Given the description of an element on the screen output the (x, y) to click on. 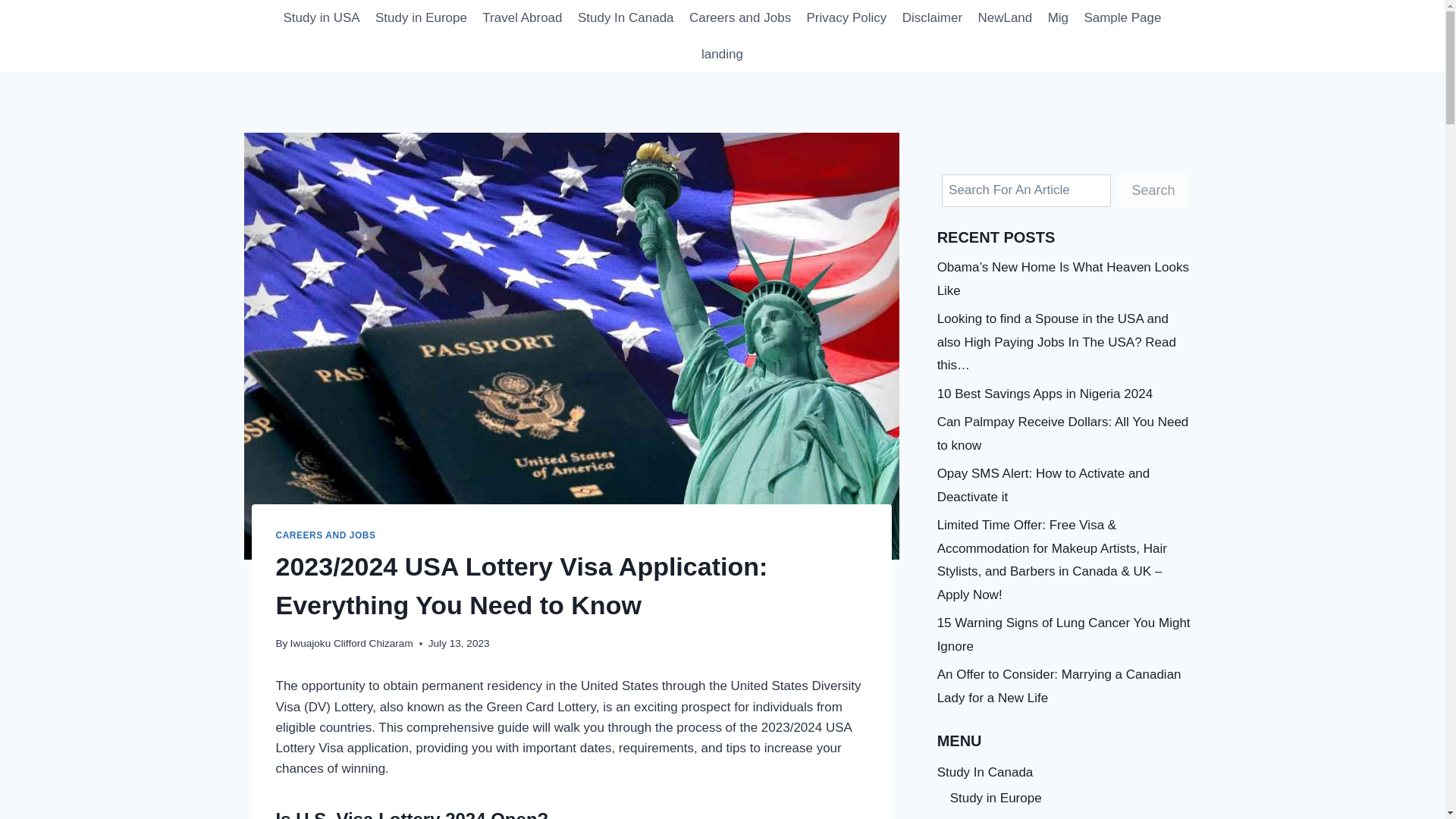
Privacy Policy (845, 18)
landing (722, 54)
Travel Abroad (522, 18)
Mig (1057, 18)
Study in Europe (421, 18)
Disclaimer (933, 18)
Study in USA (320, 18)
CAREERS AND JOBS (325, 534)
NewLand (1004, 18)
Sample Page (1122, 18)
